Given the description of an element on the screen output the (x, y) to click on. 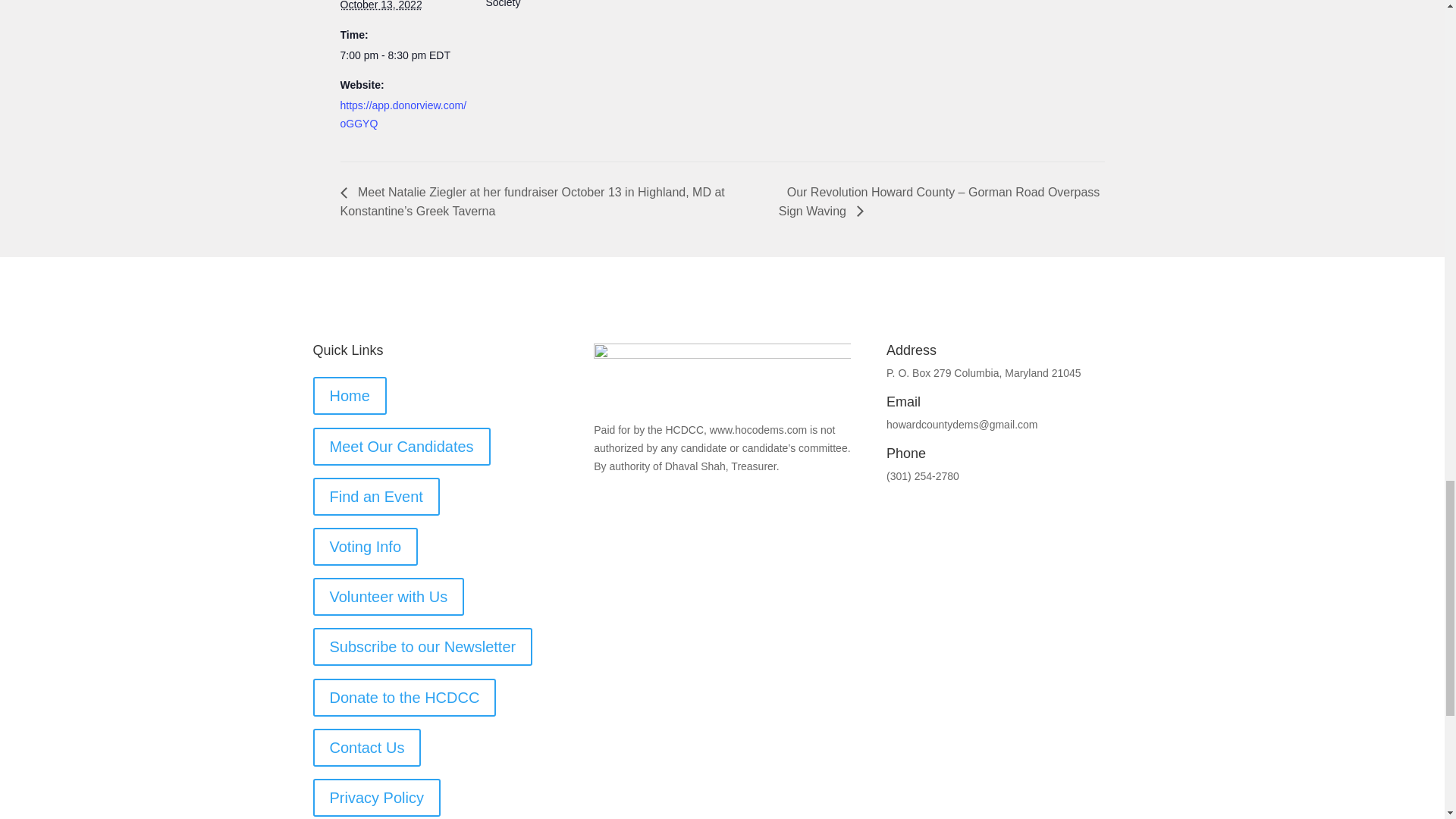
2022-10-13 (403, 55)
2022-10-13 (380, 5)
HCDCC-Logo-bl01 (722, 376)
